Given the description of an element on the screen output the (x, y) to click on. 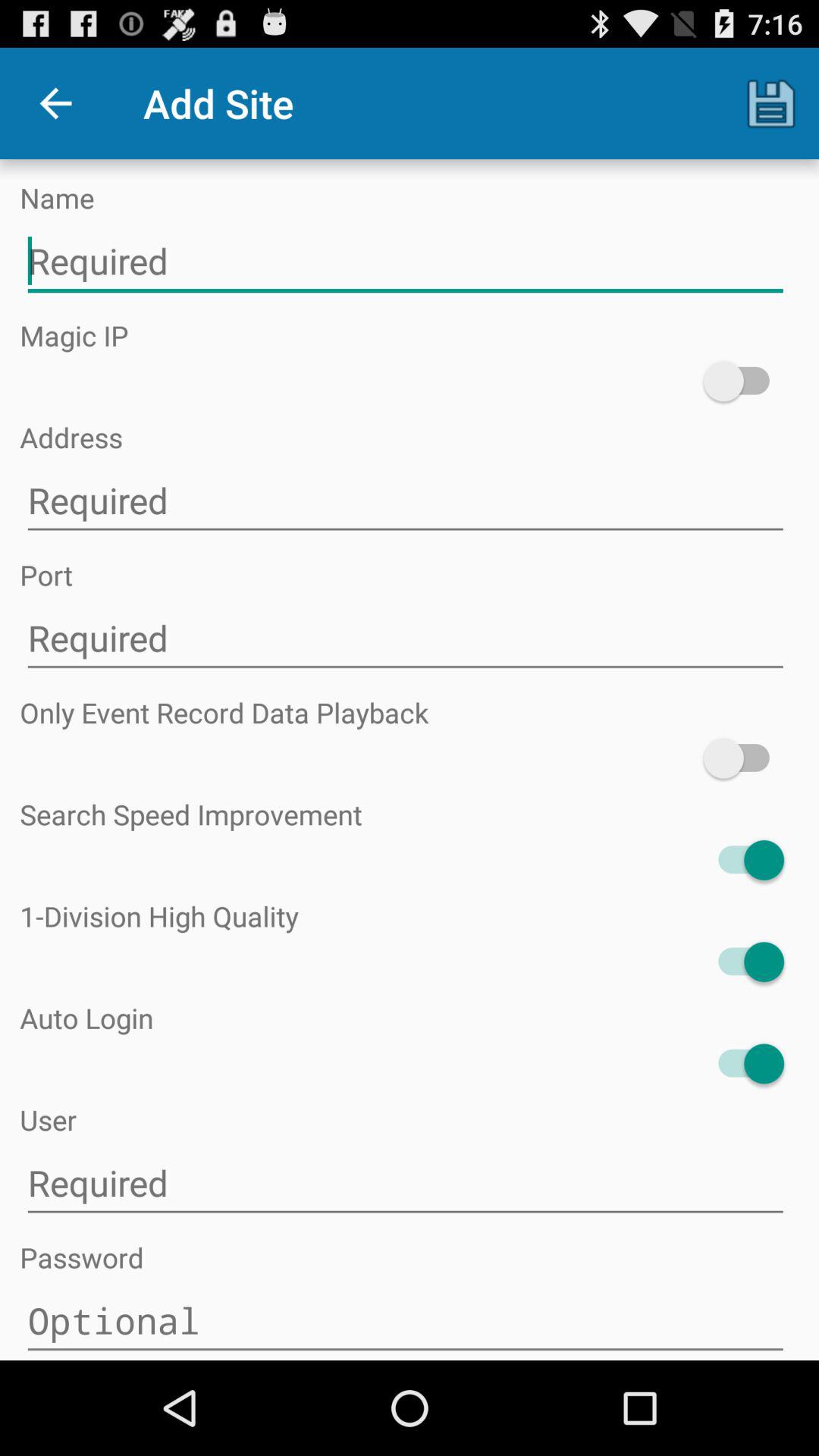
required address field (405, 501)
